Given the description of an element on the screen output the (x, y) to click on. 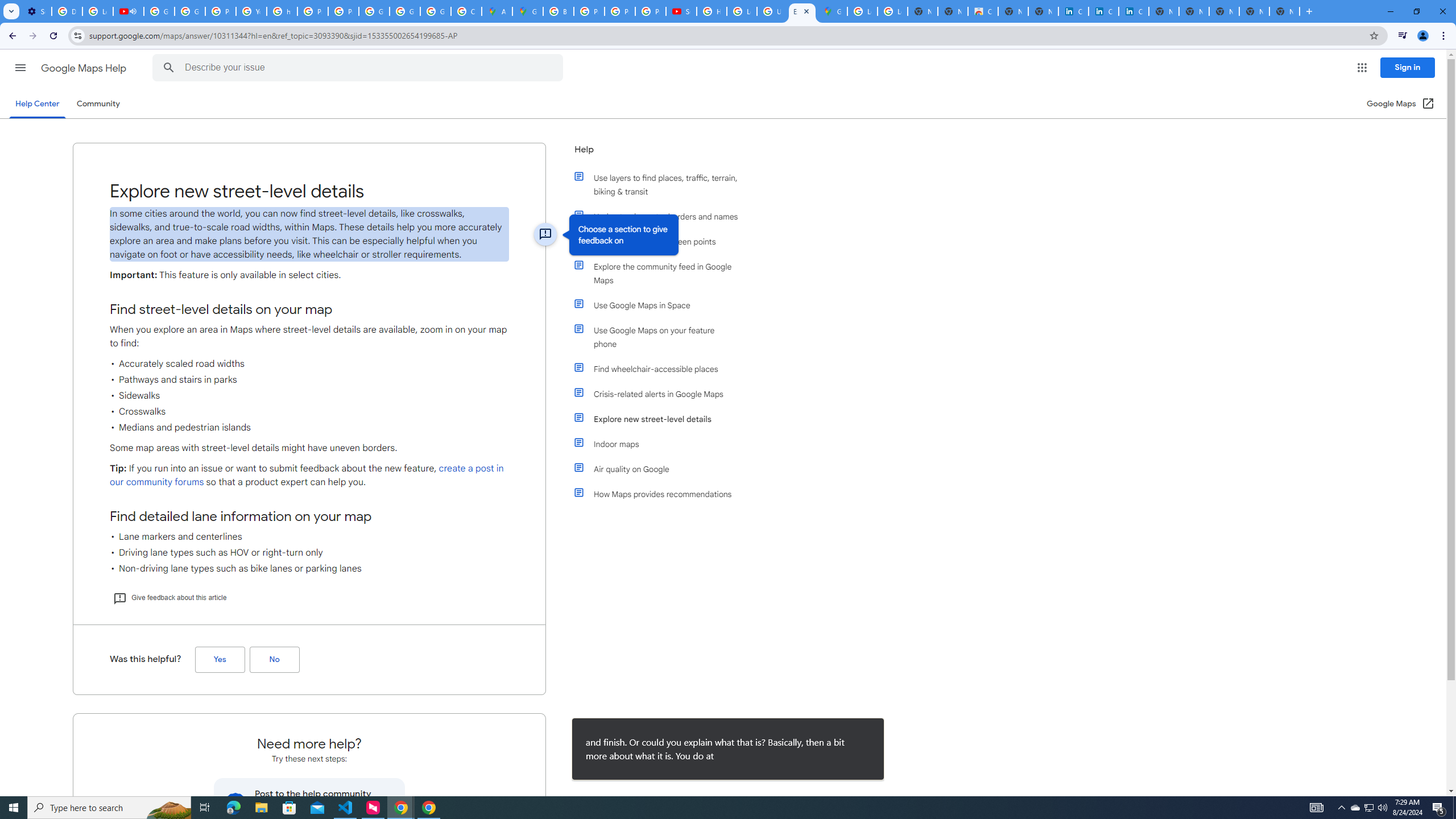
Privacy Help Center - Policies Help (619, 11)
Copyright Policy (1133, 11)
Indoor maps (661, 444)
Explore the community feed in Google Maps (661, 273)
Google Account Help (158, 11)
